Given the description of an element on the screen output the (x, y) to click on. 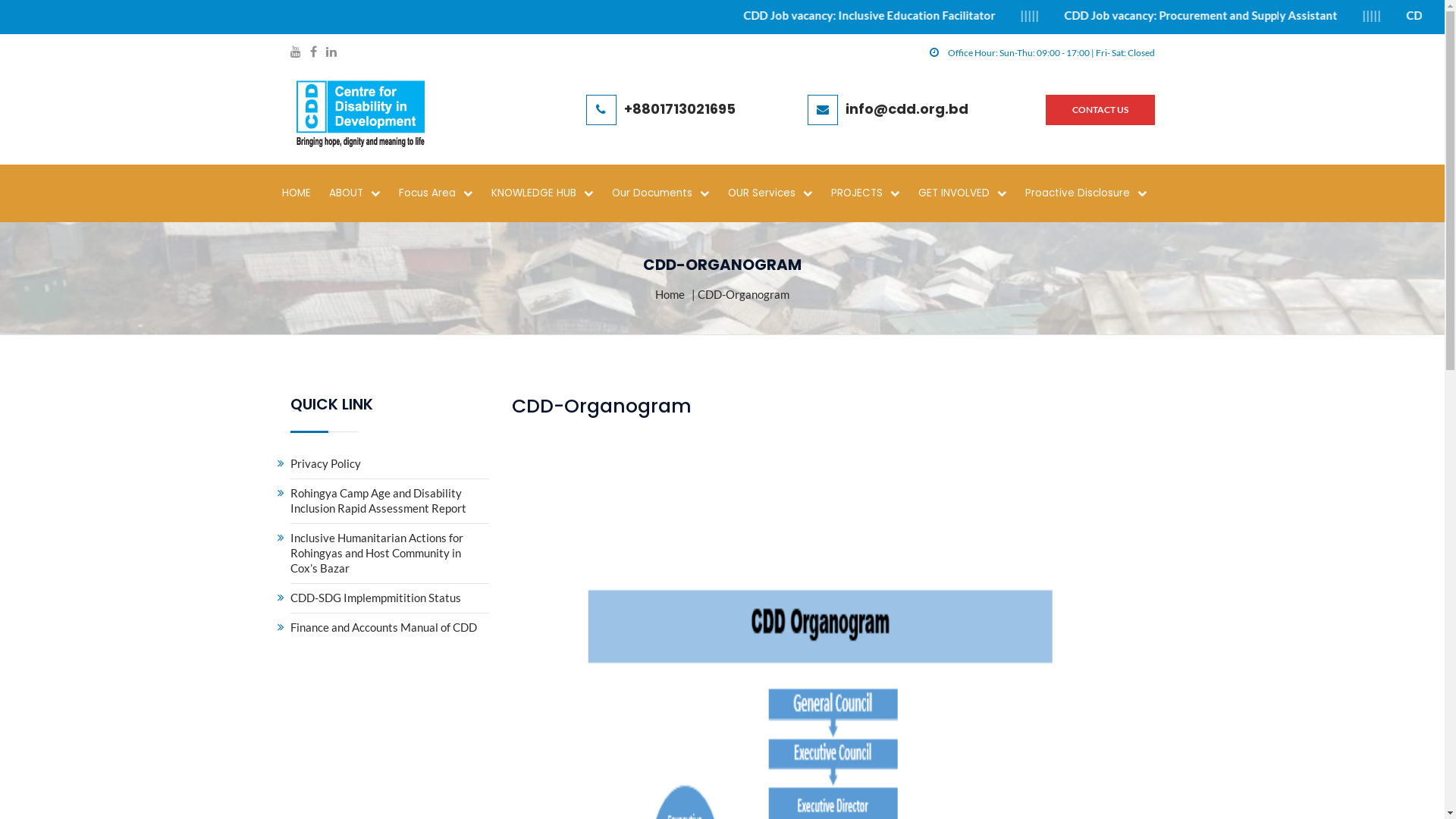
youtube link Element type: text (294, 52)
HOME Element type: text (304, 193)
GET INVOLVED Element type: text (970, 193)
facebook link Element type: text (312, 52)
Proactive Disclosure Element type: text (1093, 193)
ABOUT Element type: text (362, 193)
PROJECTS Element type: text (873, 193)
Finance and Accounts Manual of CDD Element type: text (389, 626)
info@cdd.org.bd Element type: text (906, 108)
Focus Area Element type: text (443, 193)
Home Element type: text (669, 294)
Privacy Policy Element type: text (389, 462)
KNOWLEDGE HUB Element type: text (549, 193)
CDD-SDG Implempmitition Status Element type: text (389, 597)
linkedin link Element type: text (331, 52)
OUR Services Element type: text (778, 193)
CONTACT US Element type: text (1099, 109)
CDD Job vacancy: Inclusive Education Facilitator Element type: text (1010, 14)
Our Documents Element type: text (667, 193)
CDD-Organogram Element type: text (601, 405)
